Given the description of an element on the screen output the (x, y) to click on. 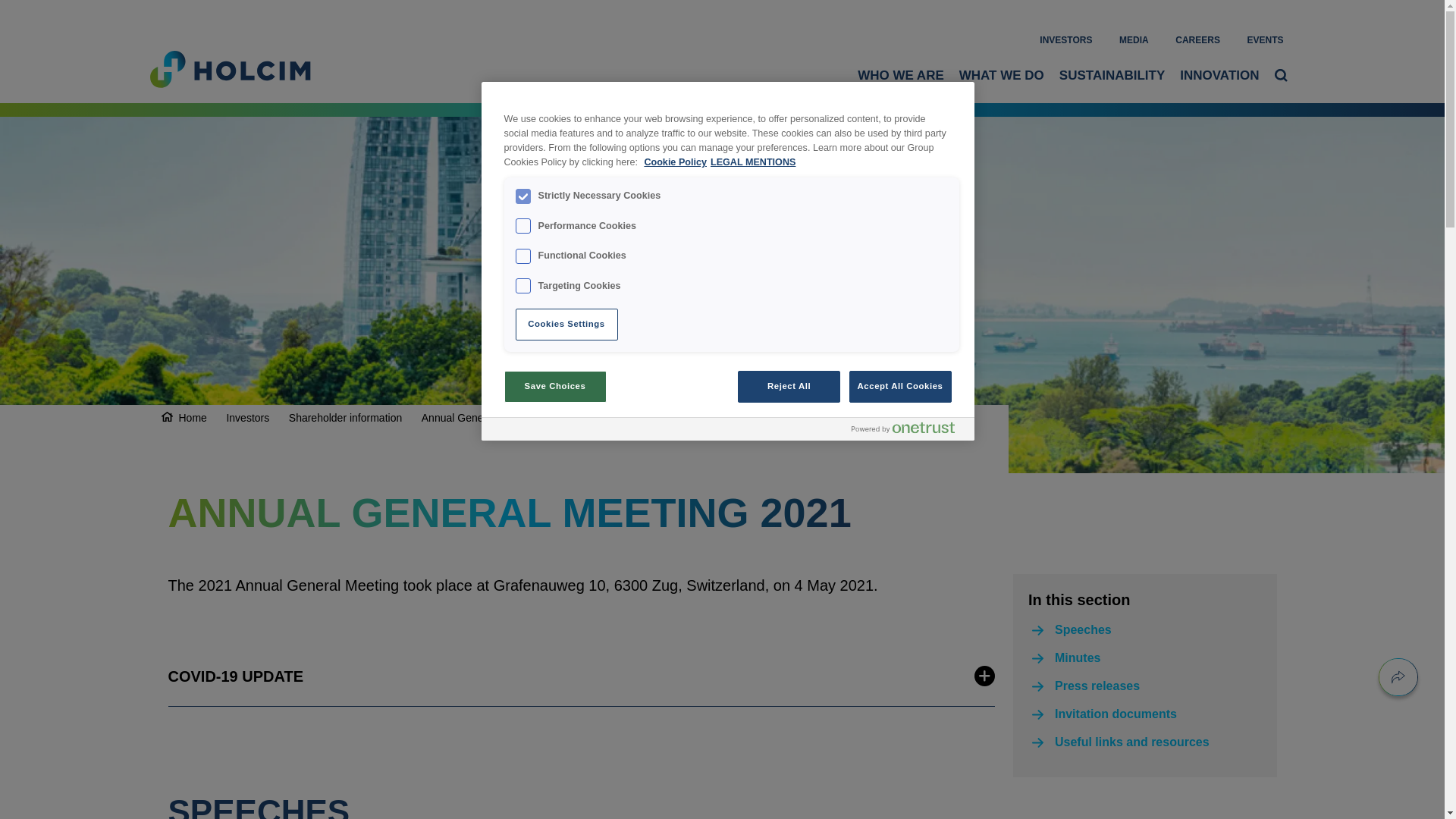
Home (192, 417)
MEDIA (1134, 39)
SUSTAINABILITY (1111, 74)
INVESTORS (1065, 39)
Annual General Meeting (478, 417)
Annual General Meeting 2021 (624, 417)
Powered by OneTrust Opens in a new Tab (901, 427)
Shareholder information (344, 417)
